Given the description of an element on the screen output the (x, y) to click on. 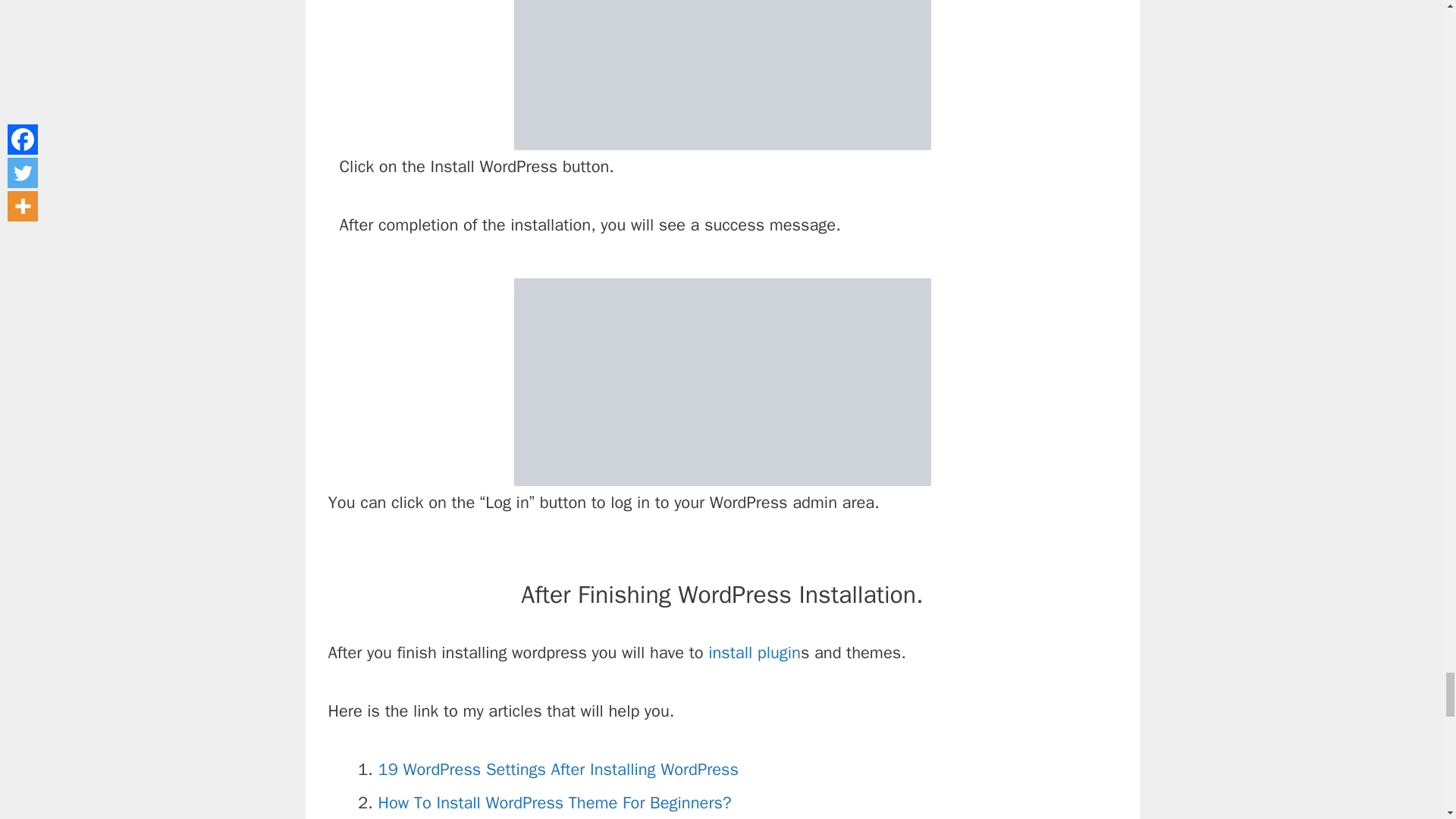
19 WordPress Settings After Installing WordPress (557, 769)
How To Install WordPress Theme For Beginners? (553, 803)
install plugin (753, 652)
